Given the description of an element on the screen output the (x, y) to click on. 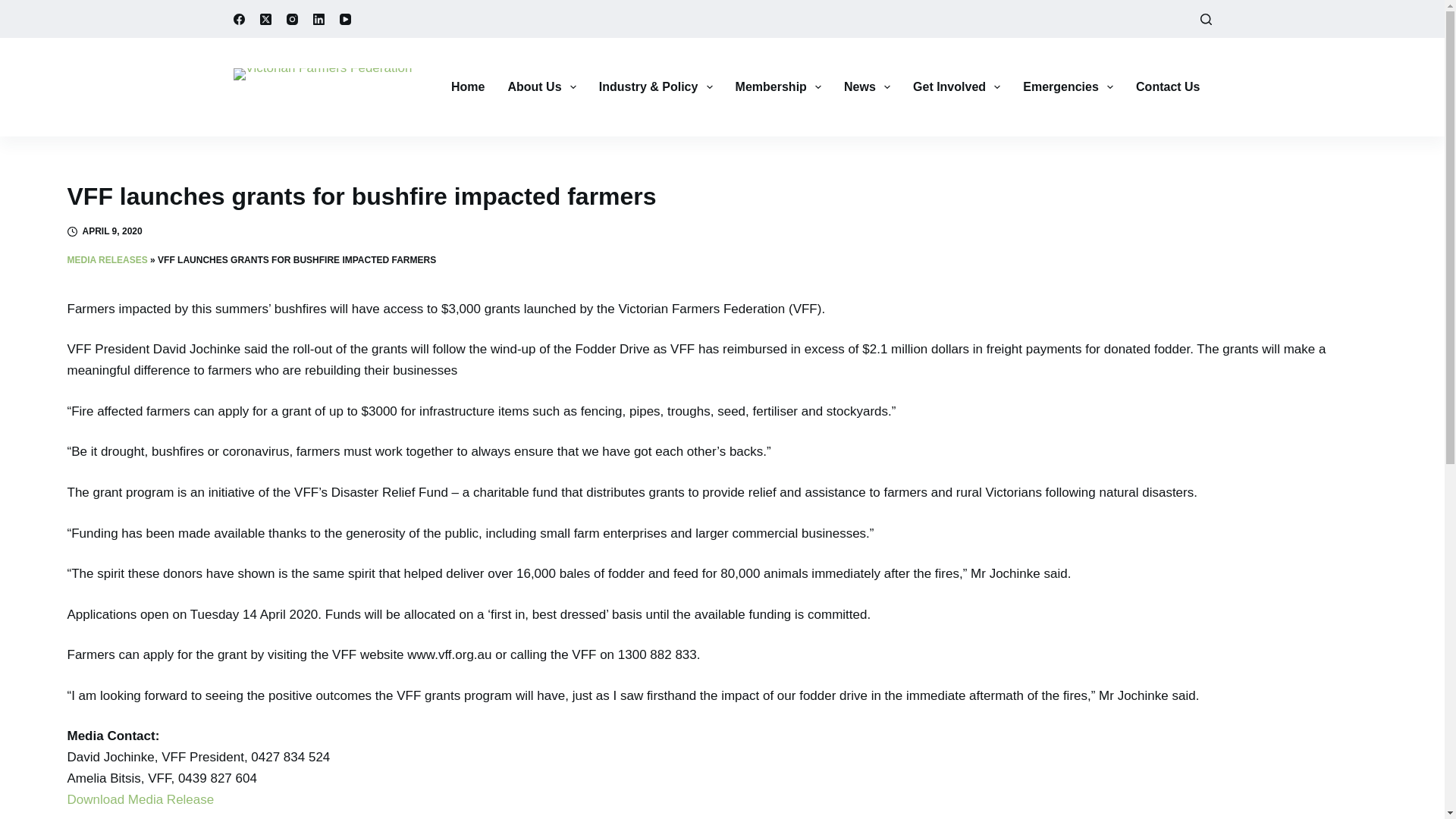
Download Media Release (140, 799)
Skip to content (15, 7)
VFF launches grants for bushfire impacted farmers (721, 195)
